Given the description of an element on the screen output the (x, y) to click on. 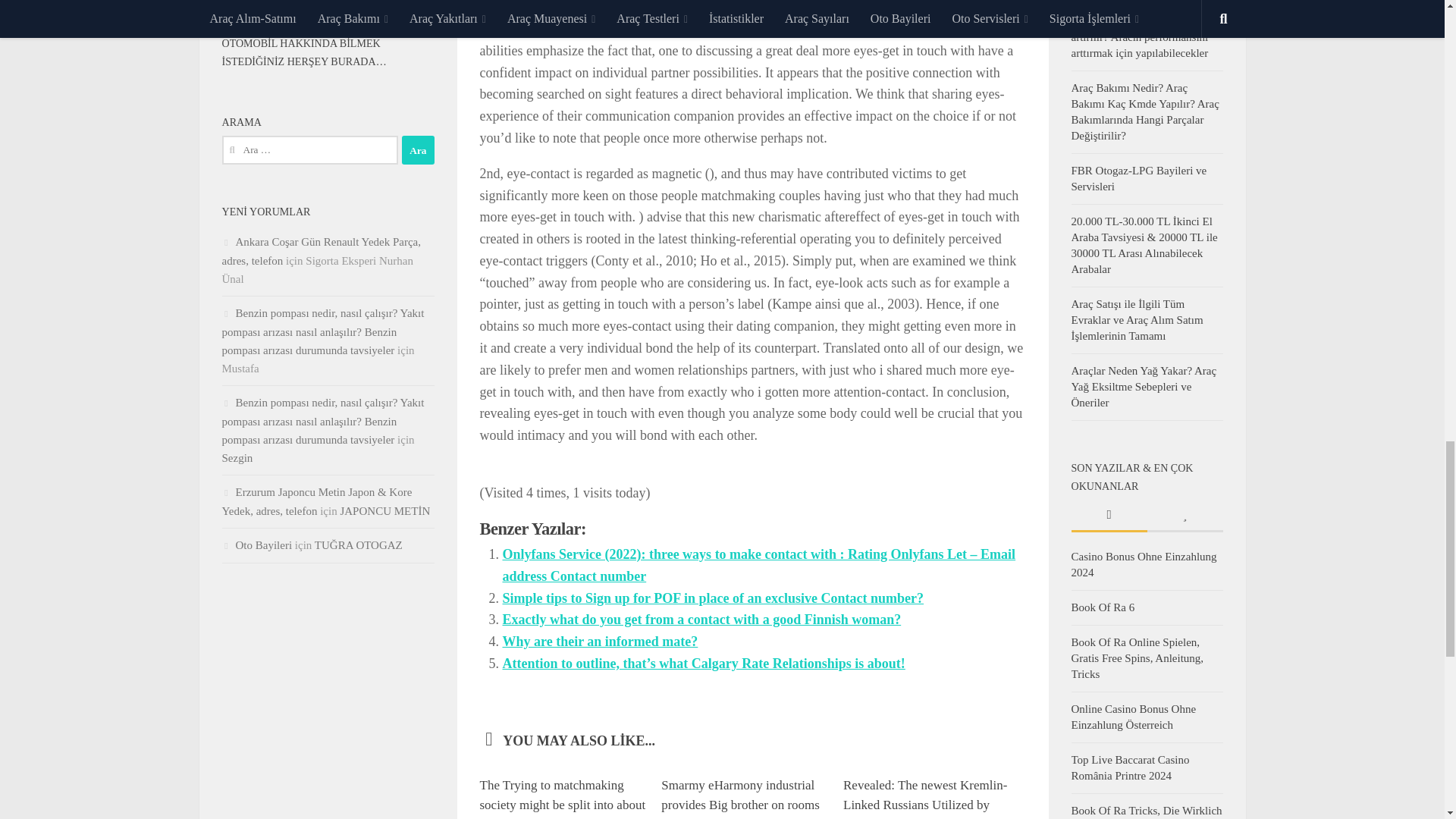
Why are their an informed mate? (599, 641)
Ara (417, 149)
Ara (417, 149)
